Given the description of an element on the screen output the (x, y) to click on. 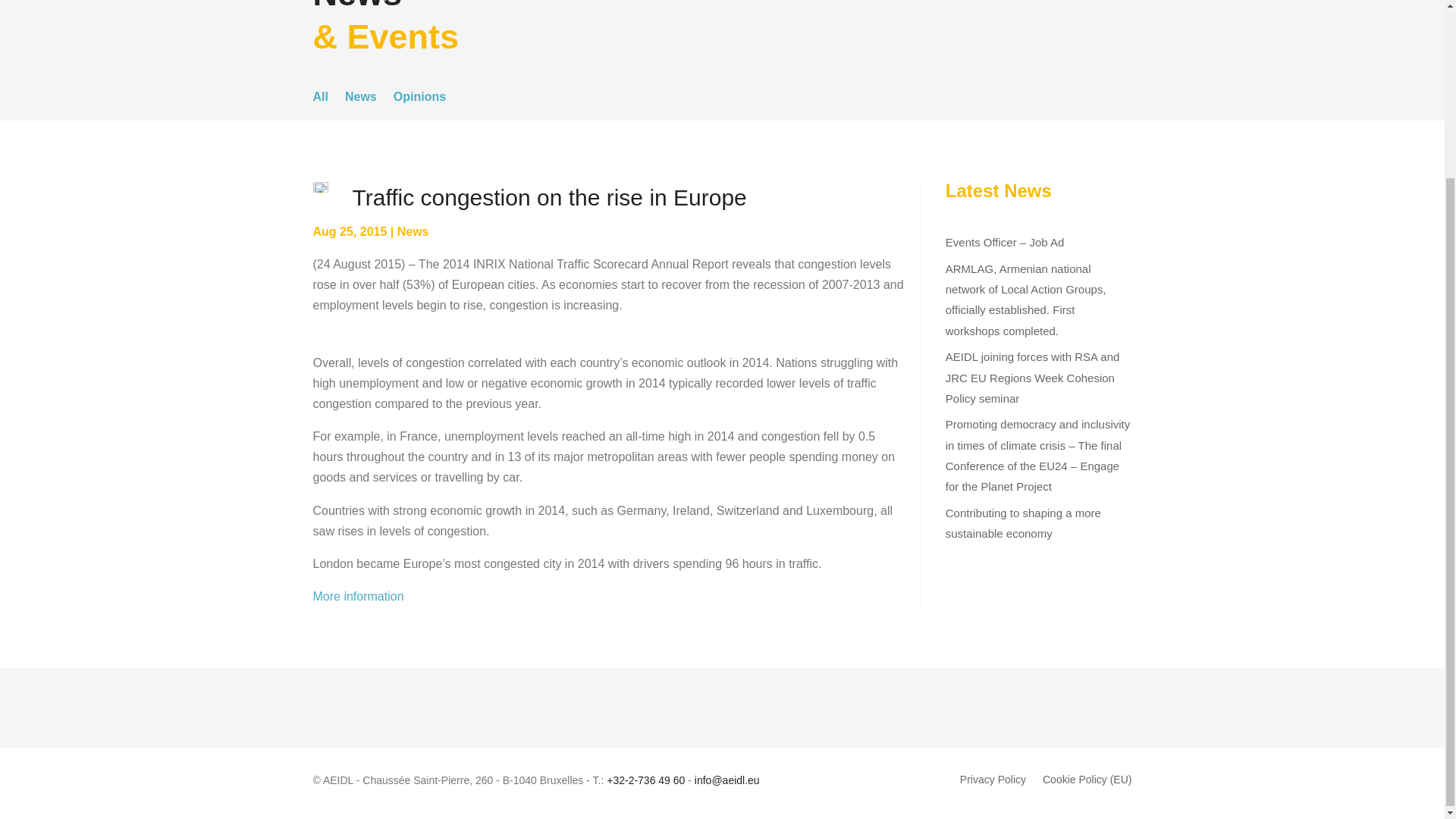
All (321, 99)
News (361, 99)
trafficjam (320, 186)
Opinions (419, 99)
News (413, 231)
More information (358, 595)
